Given the description of an element on the screen output the (x, y) to click on. 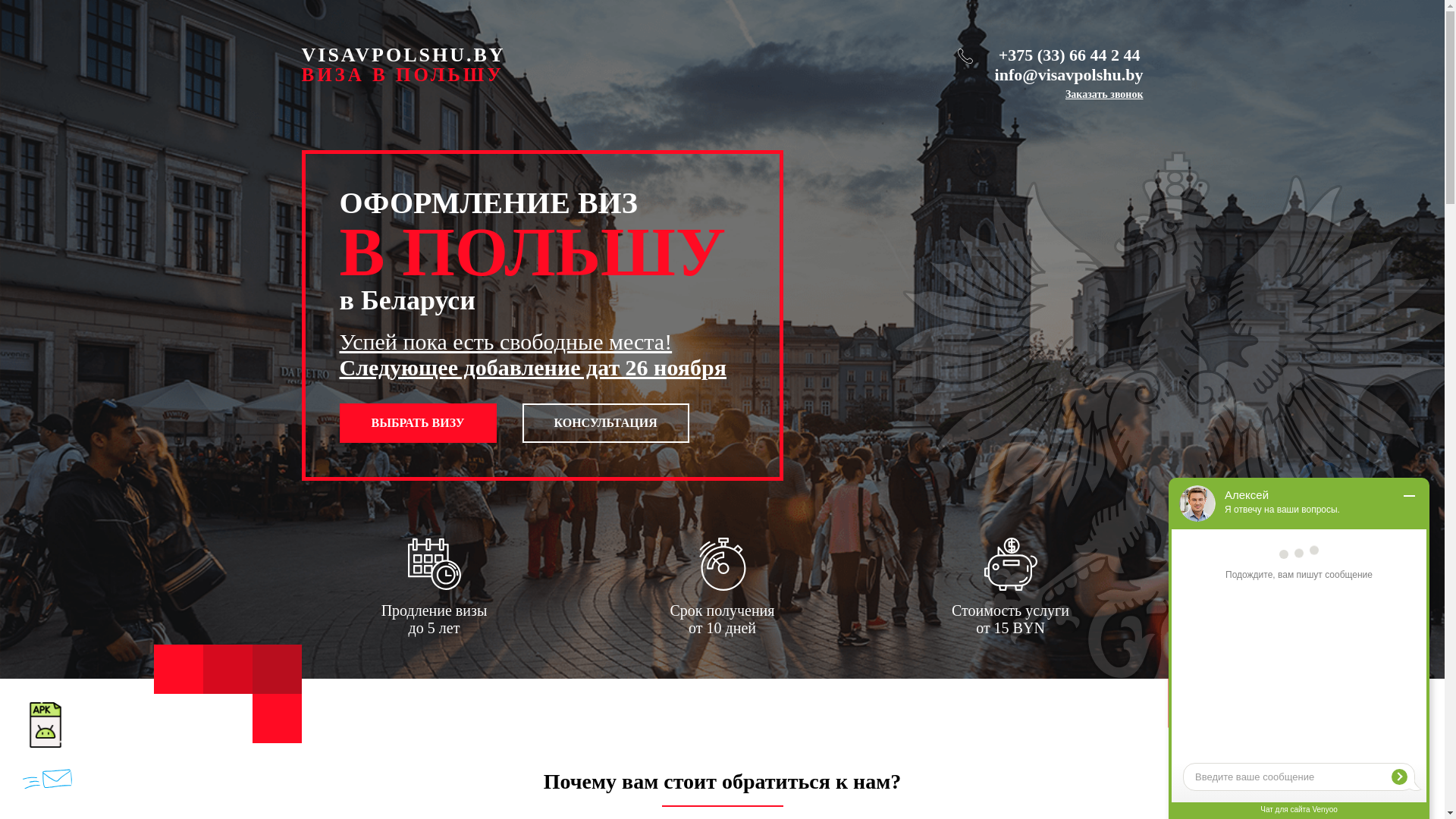
info@visavpolshu.by Element type: text (1068, 74)
+375 (33) 66 44 2 44 Element type: text (1069, 55)
